Given the description of an element on the screen output the (x, y) to click on. 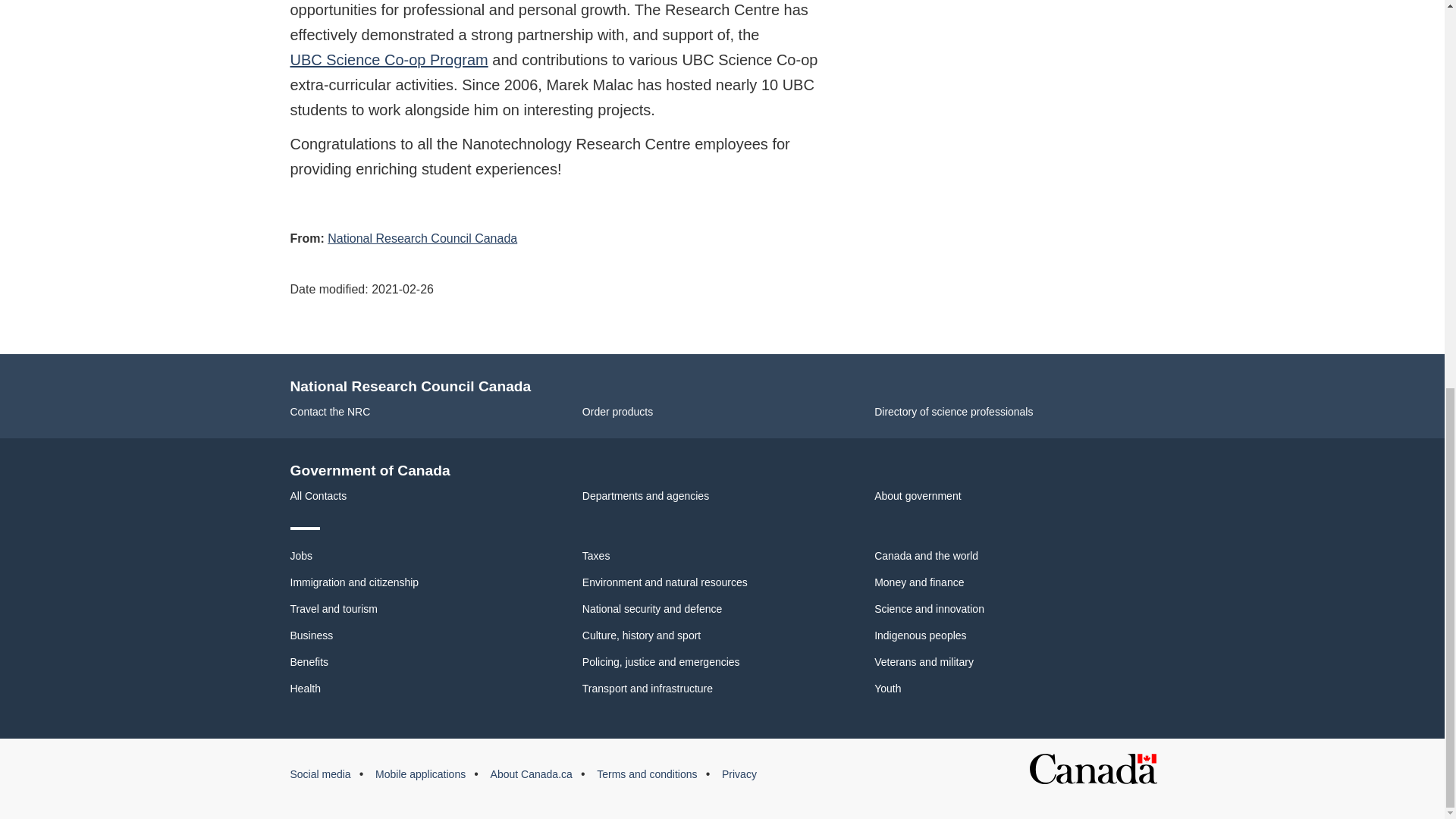
All Contacts (317, 495)
National Research Council Canada (421, 237)
UBC Science Co-op Program (388, 59)
Contact the NRC (329, 411)
Directory of science professionals (953, 411)
Order products (617, 411)
